Given the description of an element on the screen output the (x, y) to click on. 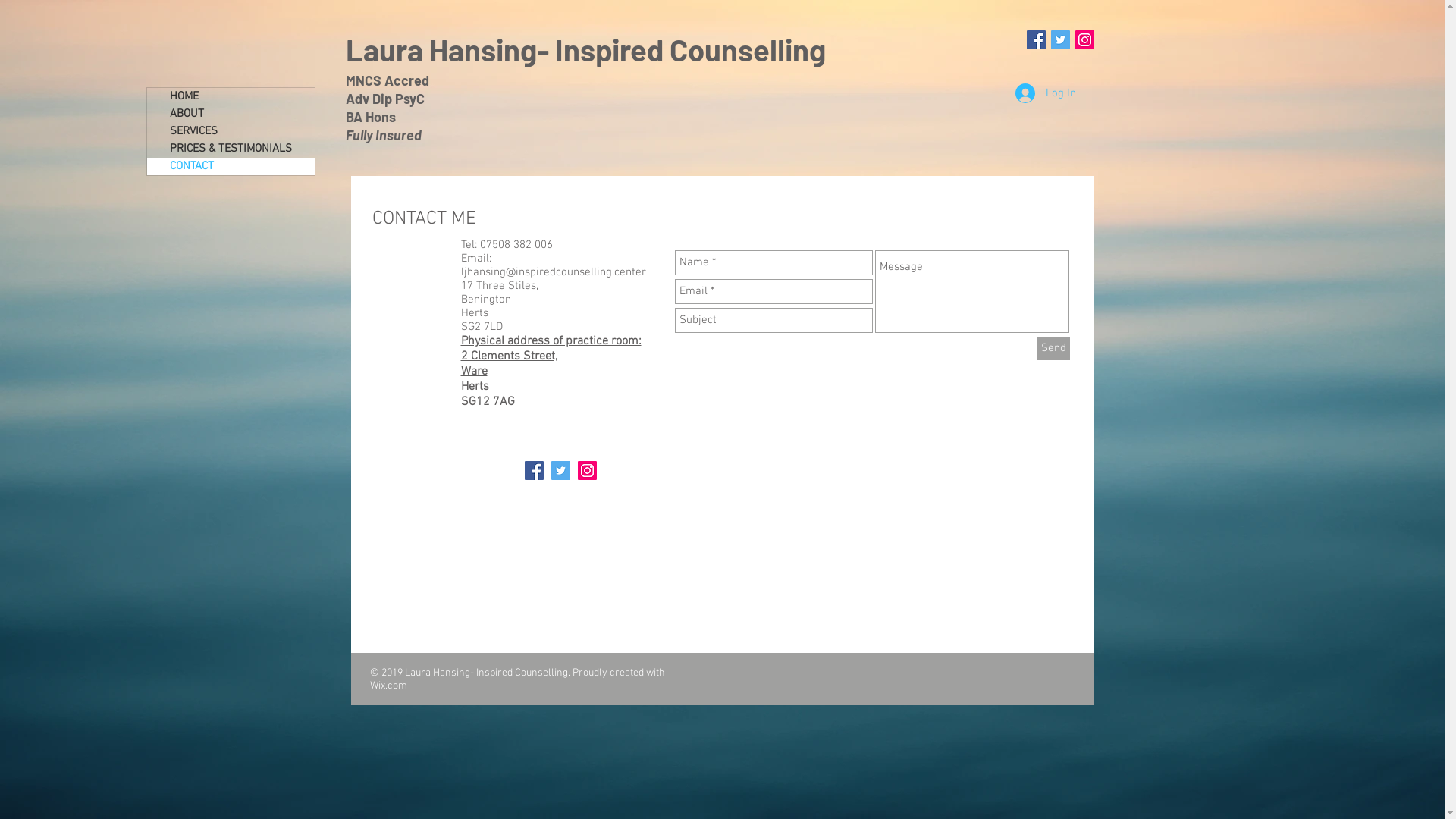
Laura Hansing- Inspired Counselling  Element type: text (588, 49)
Log In Element type: text (1044, 92)
Google Maps Element type: hover (765, 546)
SERVICES Element type: text (230, 131)
Send Element type: text (1053, 348)
Wix.com Element type: text (388, 685)
HOME Element type: text (230, 96)
CONTACT Element type: text (230, 166)
ljhansing@inspiredcounselling.center Element type: text (553, 272)
PRICES & TESTIMONIALS Element type: text (230, 148)
ABOUT Element type: text (230, 113)
